Given the description of an element on the screen output the (x, y) to click on. 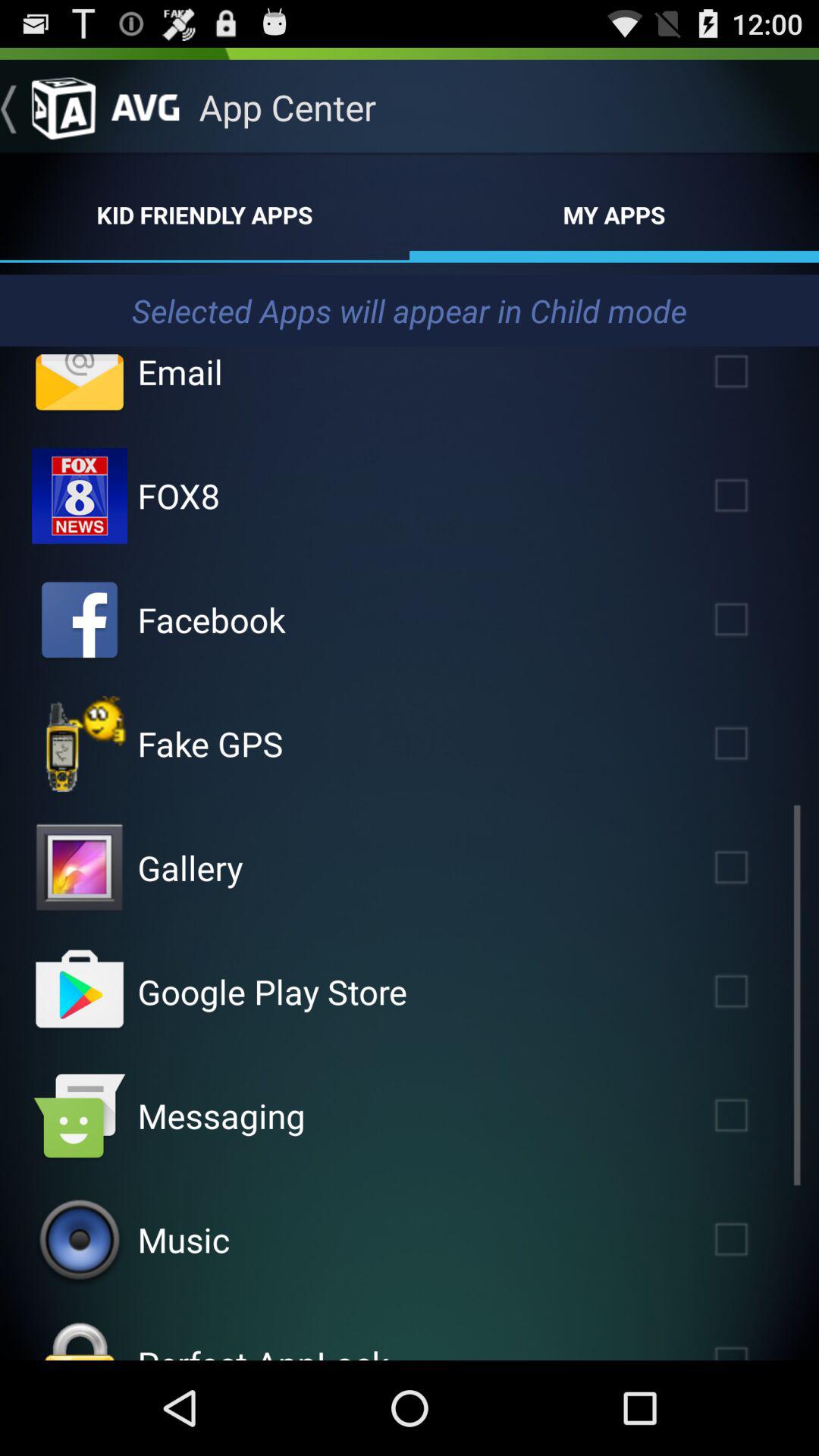
press icon above the gallery item (210, 743)
